Given the description of an element on the screen output the (x, y) to click on. 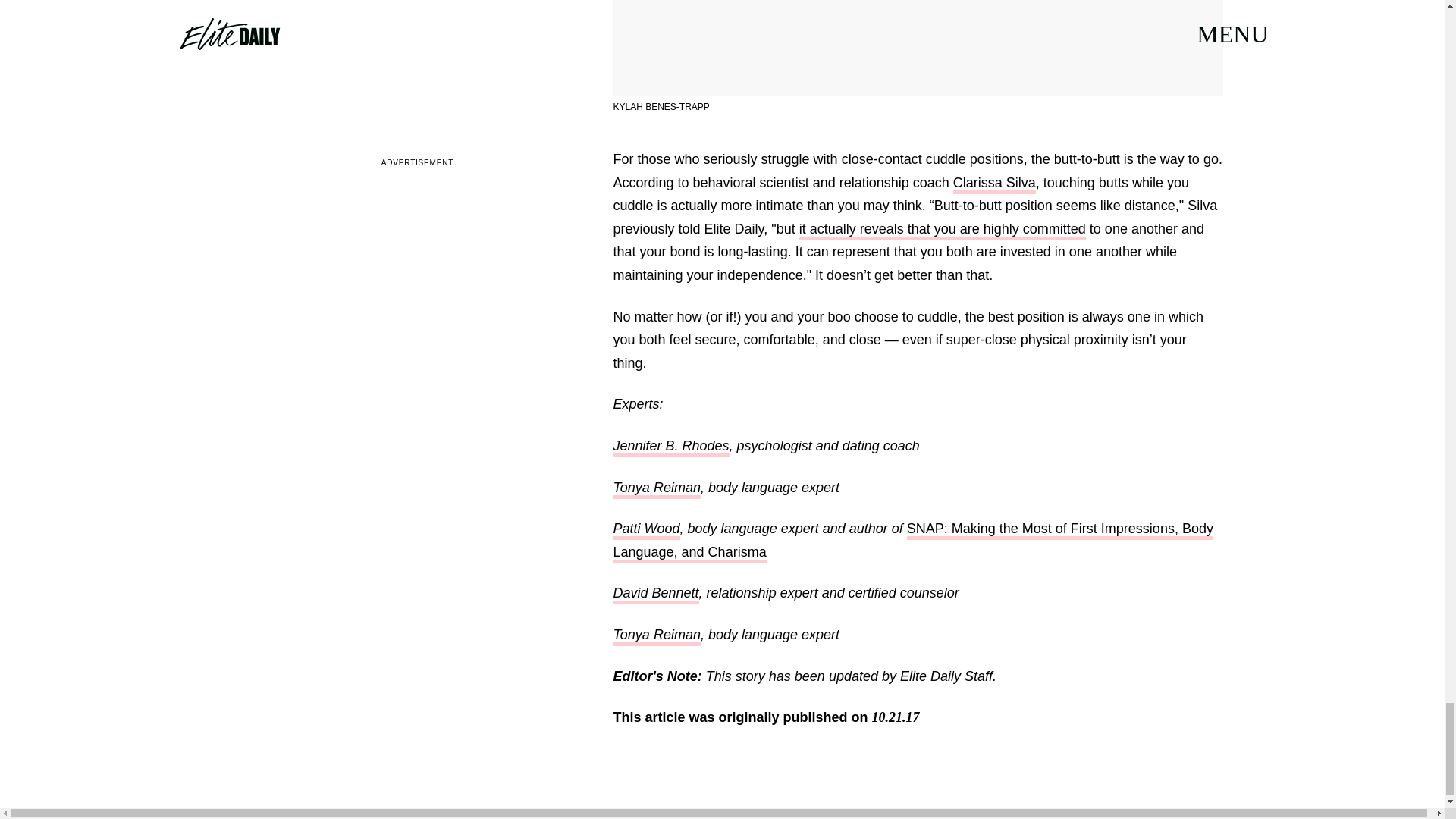
it actually reveals that you are highly committed (942, 230)
Clarissa Silva (994, 184)
Tonya Reiman (656, 636)
Patti Wood (645, 529)
Jennifer B. Rhodes (670, 447)
David Bennett (655, 594)
Tonya Reiman (656, 488)
